Given the description of an element on the screen output the (x, y) to click on. 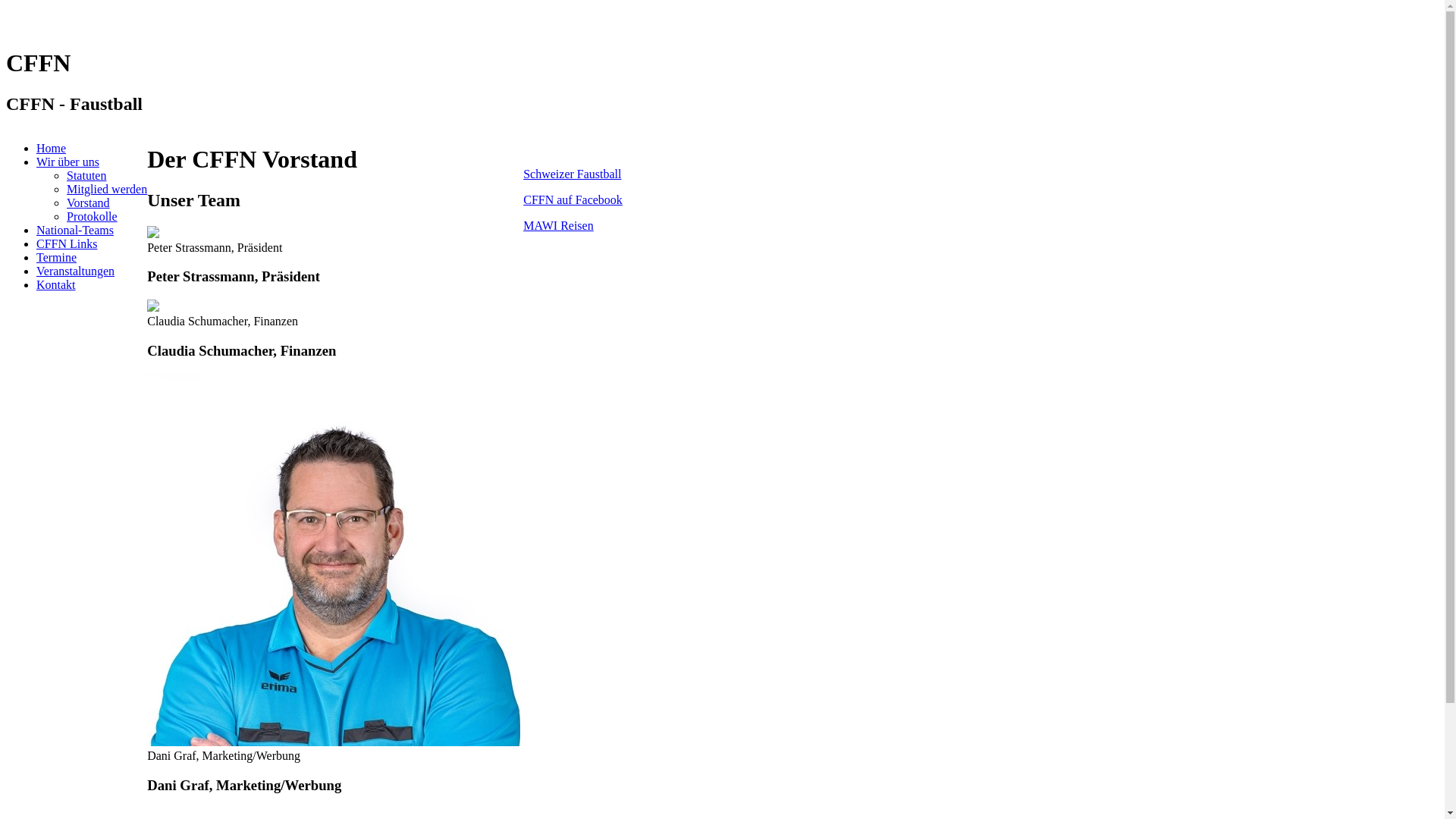
Kontakt Element type: text (55, 284)
MAWI Reisen Element type: text (558, 225)
Termine Element type: text (56, 257)
Home Element type: text (50, 147)
CFFN auf Facebook Element type: text (572, 199)
Statuten Element type: text (86, 175)
Veranstaltungen Element type: text (75, 270)
National-Teams Element type: text (74, 229)
CFFN Links Element type: text (66, 243)
Vorstand Element type: text (87, 202)
Schweizer Faustball Element type: text (572, 173)
Mitglied werden Element type: text (106, 188)
Protokolle Element type: text (91, 216)
